Given the description of an element on the screen output the (x, y) to click on. 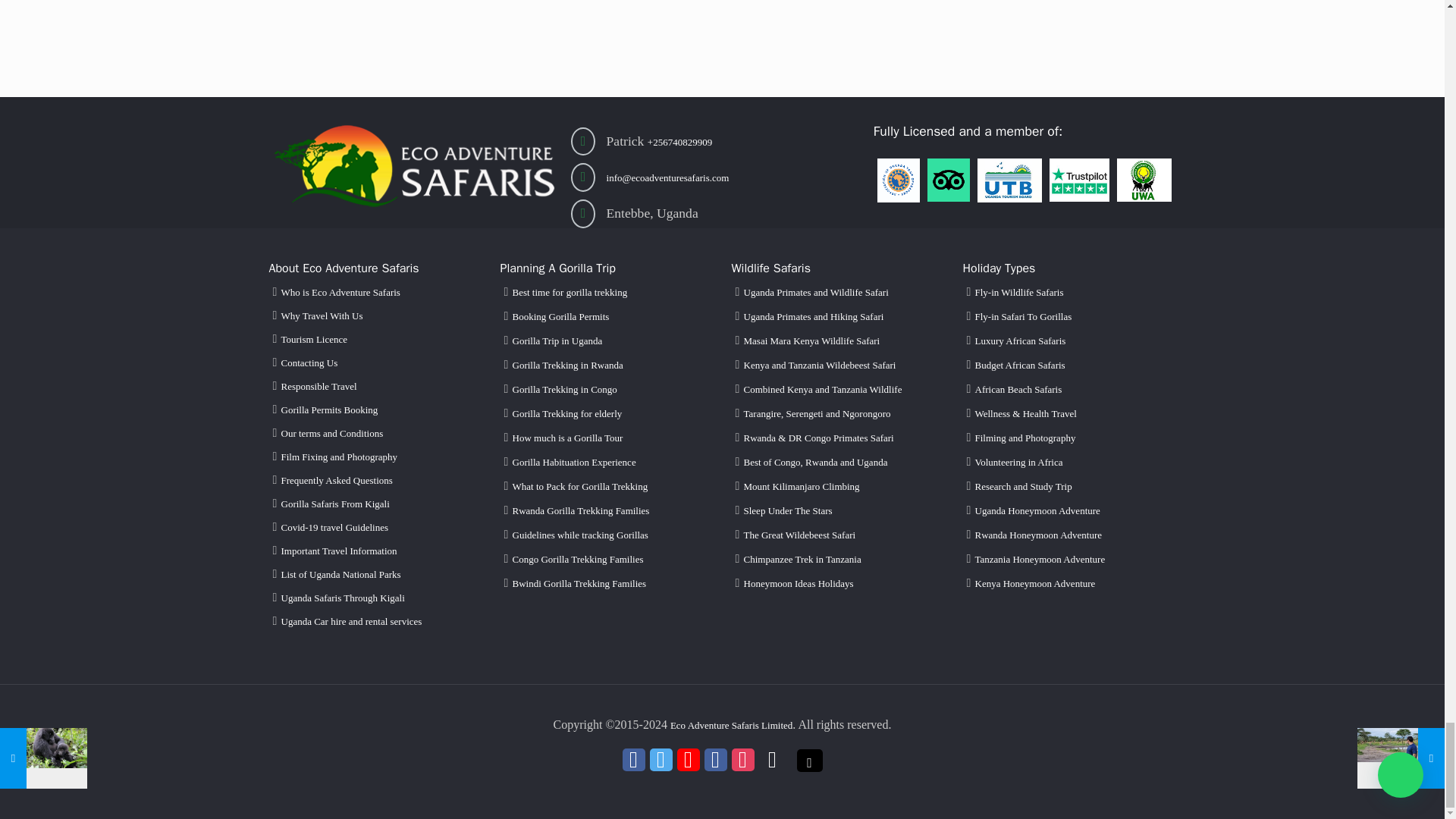
LinkedIn (714, 763)
Facebook (633, 763)
YouTube (687, 763)
